Given the description of an element on the screen output the (x, y) to click on. 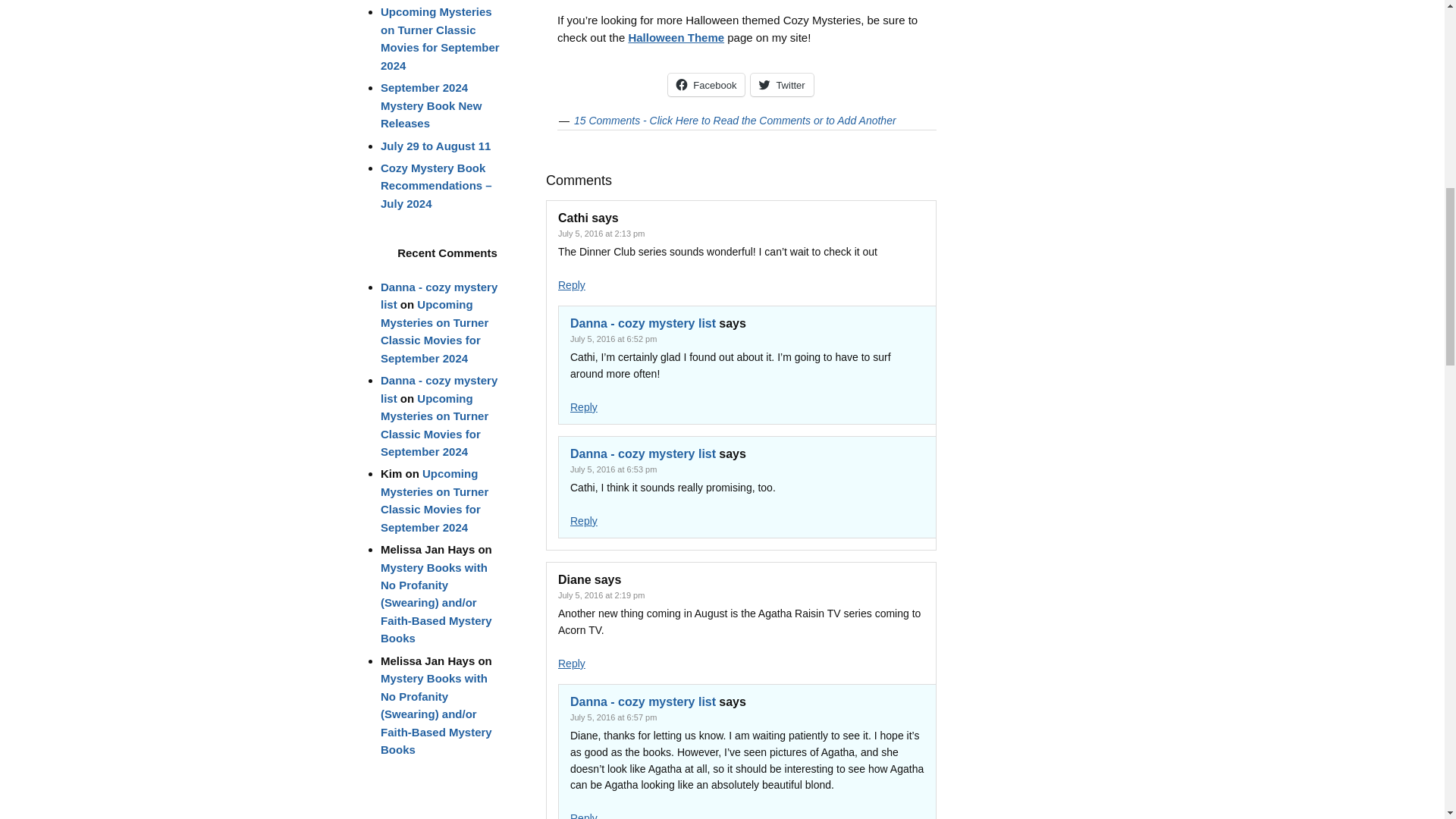
Reply (571, 663)
Halloween Theme (675, 37)
Danna - cozy mystery list (643, 453)
Reply (583, 407)
Click to share on Twitter (781, 84)
Reply (583, 521)
Reply (571, 285)
Danna - cozy mystery list (643, 701)
Twitter (781, 84)
Reply (583, 815)
